Given the description of an element on the screen output the (x, y) to click on. 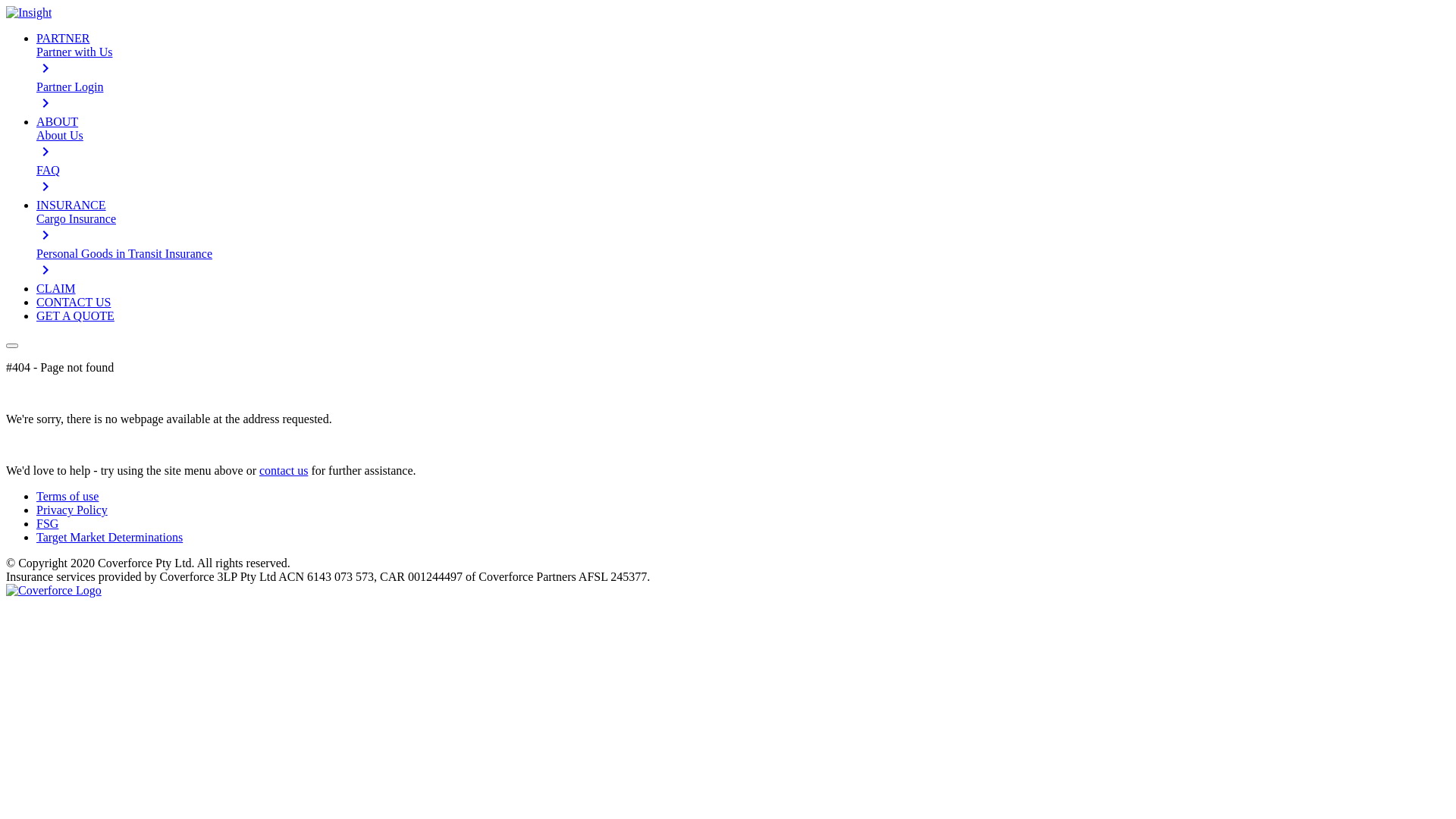
Privacy Policy Element type: text (71, 509)
PARTNER Element type: text (62, 37)
Target Market Determinations Element type: text (109, 536)
ABOUT Element type: text (57, 121)
Cargo Insurance
keyboard_arrow_right Element type: text (742, 229)
Personal Goods in Transit Insurance
keyboard_arrow_right Element type: text (742, 270)
Partner with Us
keyboard_arrow_right Element type: text (742, 62)
CONTACT US Element type: text (73, 301)
FAQ
keyboard_arrow_right Element type: text (742, 187)
Terms of use Element type: text (67, 495)
CLAIM Element type: text (55, 288)
contact us Element type: text (283, 470)
FSG Element type: text (47, 523)
About Us
keyboard_arrow_right Element type: text (742, 145)
Partner Login
keyboard_arrow_right Element type: text (742, 104)
GET A QUOTE Element type: text (75, 315)
INSURANCE Element type: text (71, 204)
